Given the description of an element on the screen output the (x, y) to click on. 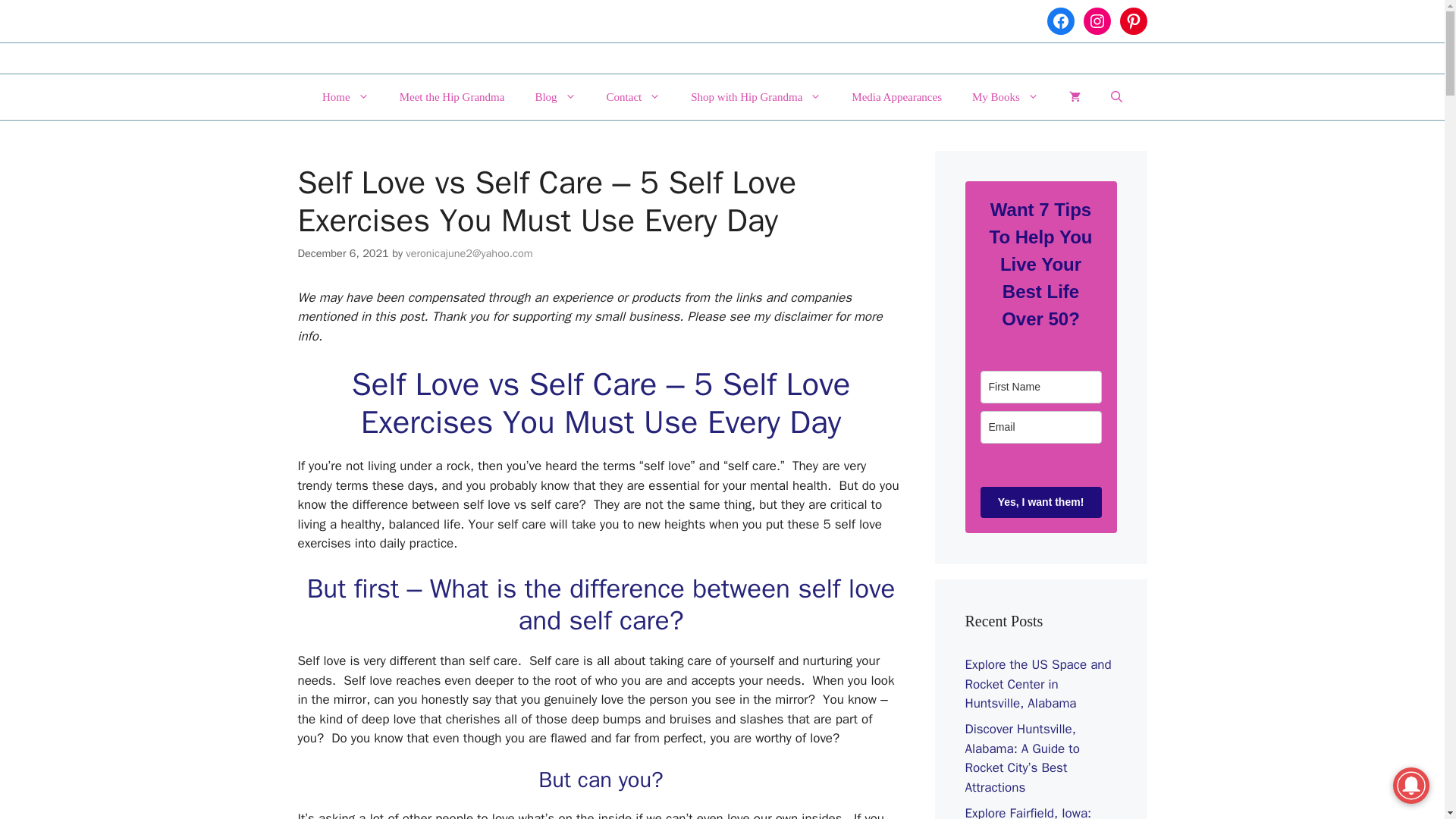
Blog (555, 96)
Facebook (1060, 21)
Shop with Hip Grandma (755, 96)
View your shopping cart (1075, 96)
Media Appearances (895, 96)
Contact (634, 96)
Instagram (1096, 21)
Home (345, 96)
Pinterest (1133, 21)
Meet the Hip Grandma (451, 96)
My Books (1005, 96)
